Given the description of an element on the screen output the (x, y) to click on. 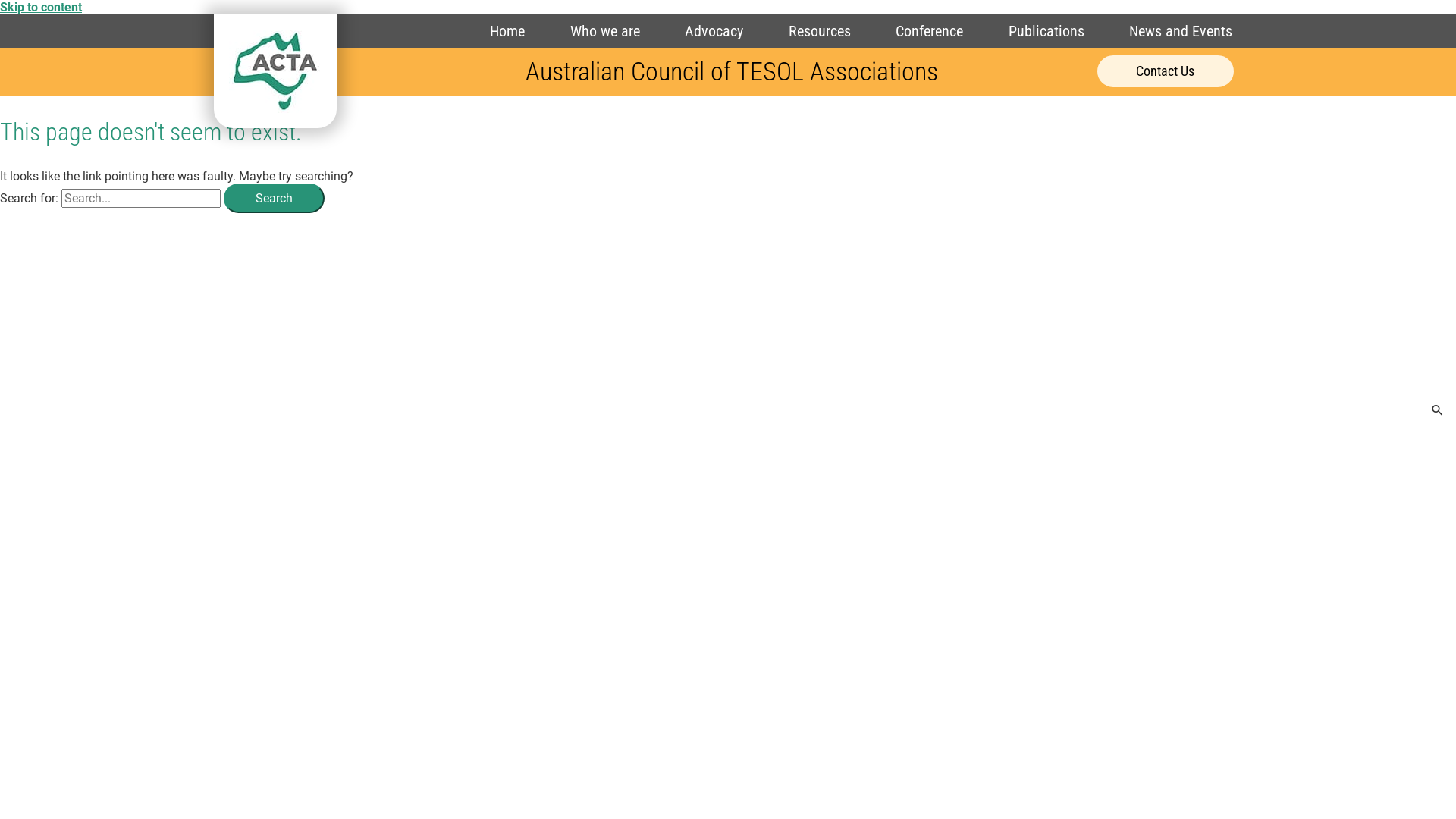
Publications Element type: text (1046, 30)
Search Element type: text (273, 198)
Contact Us Element type: text (1165, 71)
Print Element type: hover (275, 70)
News and Events Element type: text (1180, 30)
Advocacy Element type: text (713, 30)
Who we are Element type: text (604, 30)
Skip to content Element type: text (40, 7)
Home Element type: text (507, 30)
Conference Element type: text (928, 30)
Resources Element type: text (819, 30)
